Given the description of an element on the screen output the (x, y) to click on. 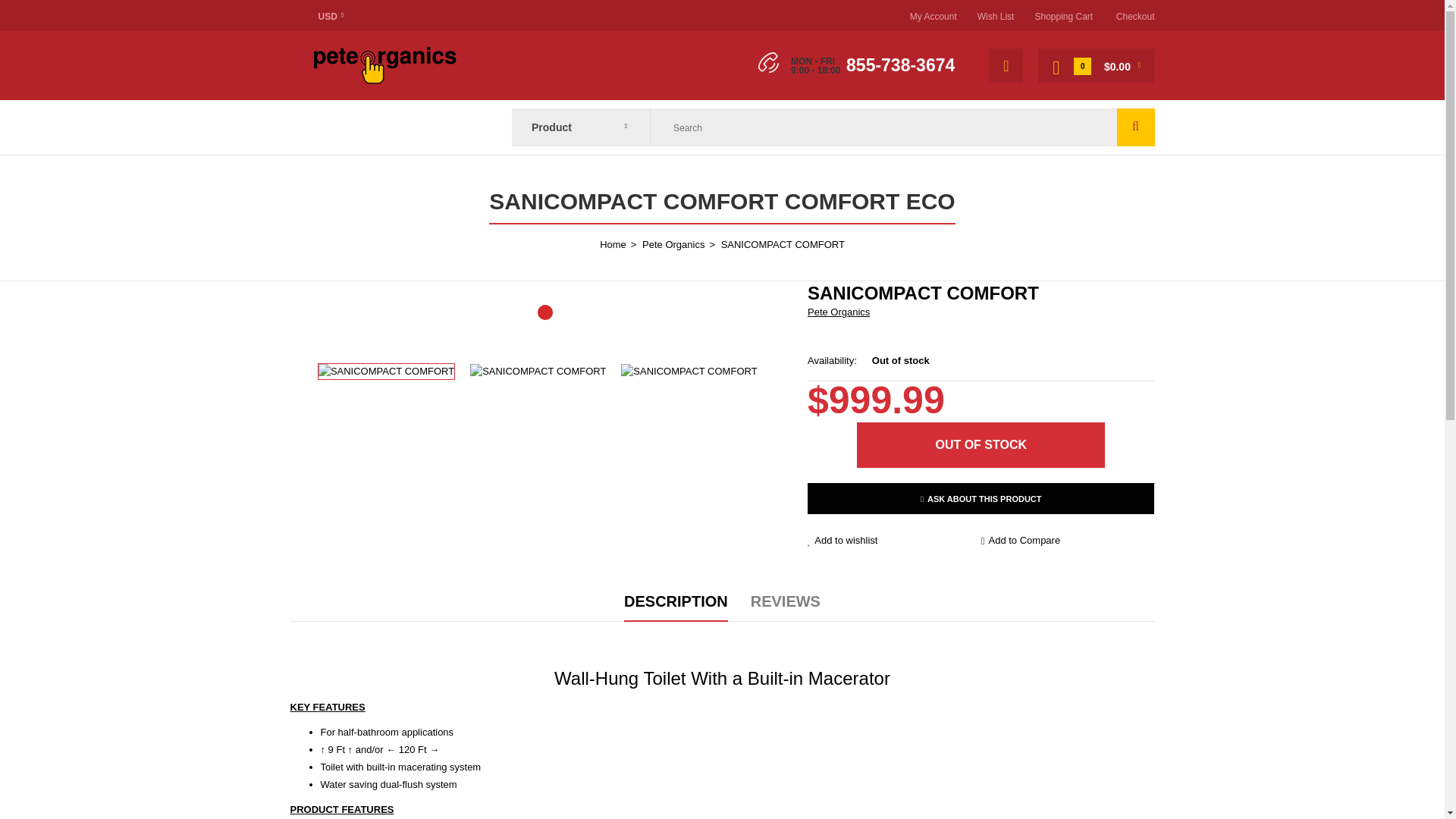
Add to wishlist (894, 540)
Pete Organics (838, 311)
Shopping Cart (1063, 16)
Add to Compare (1067, 540)
Out of stock (981, 444)
Wish List (995, 16)
Pete Organics (384, 80)
Checkout (1135, 16)
Pete Organics (384, 63)
My Account (933, 16)
